Given the description of an element on the screen output the (x, y) to click on. 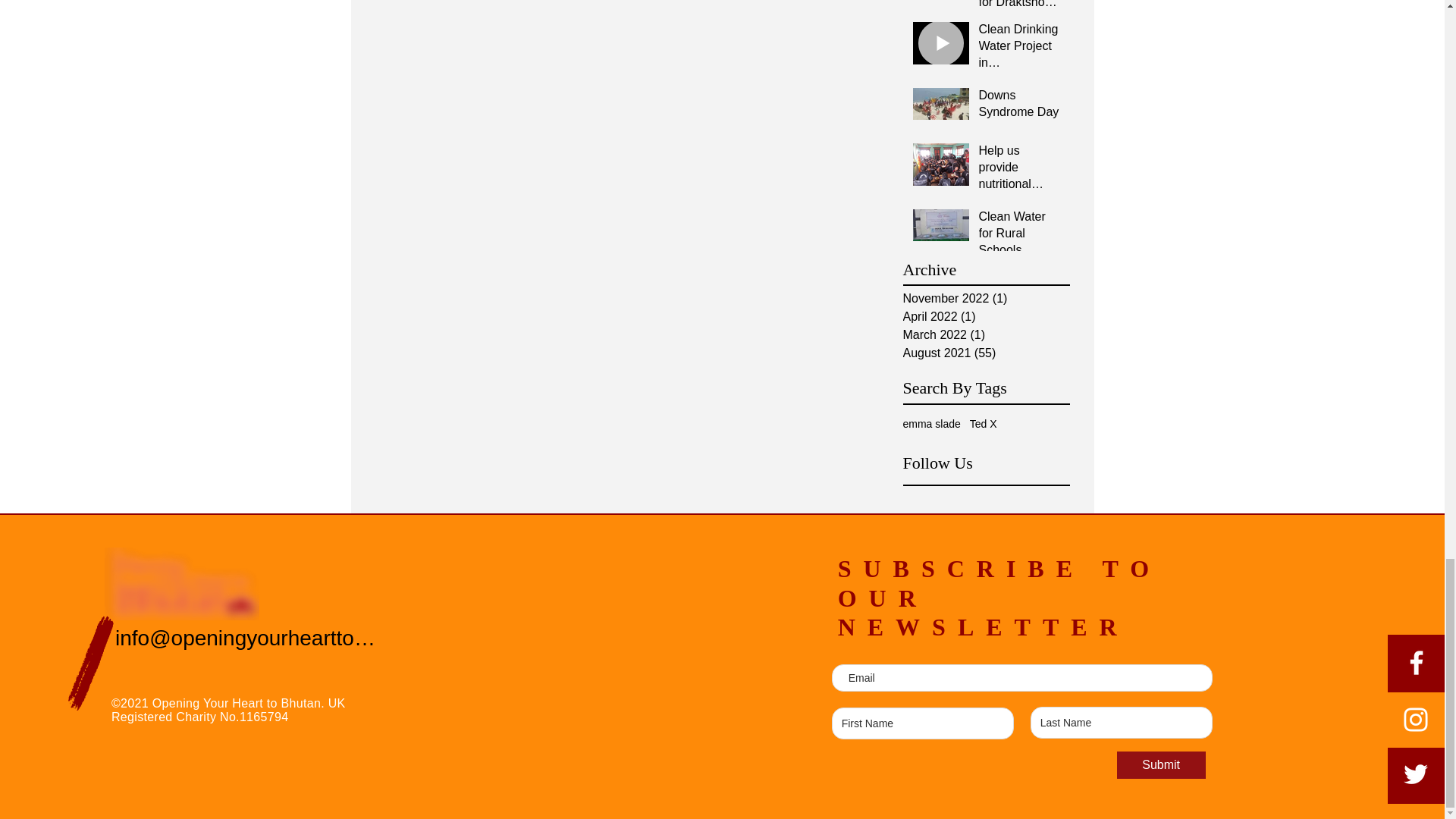
Agricultural Opportunities for Draktsho Students (1018, 8)
emma slade (930, 423)
Ted X (983, 423)
Clean Water for Rural Schools (1018, 236)
Downs Syndrome Day (1018, 106)
